Given the description of an element on the screen output the (x, y) to click on. 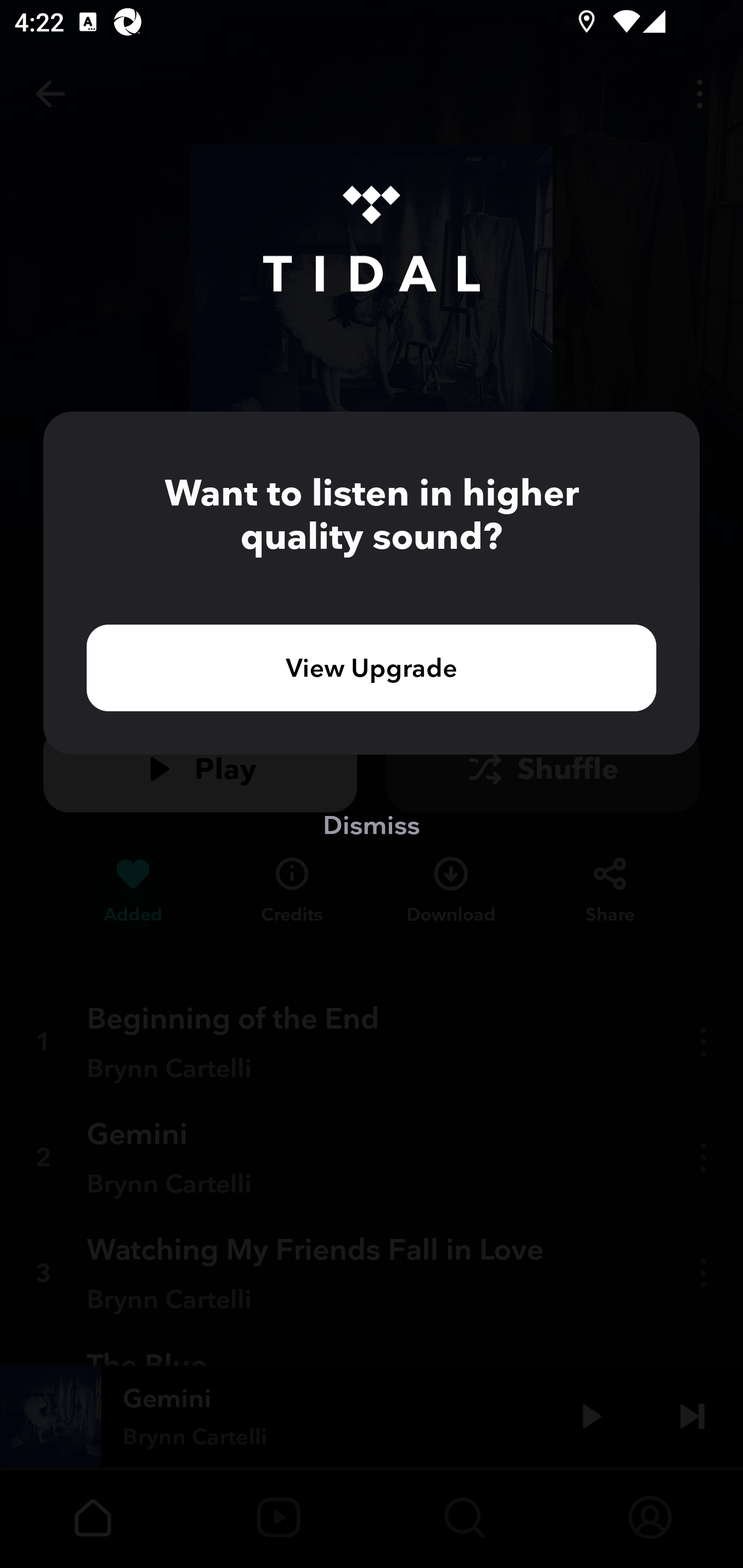
View Upgrade (371, 667)
Dismiss (371, 824)
